Given the description of an element on the screen output the (x, y) to click on. 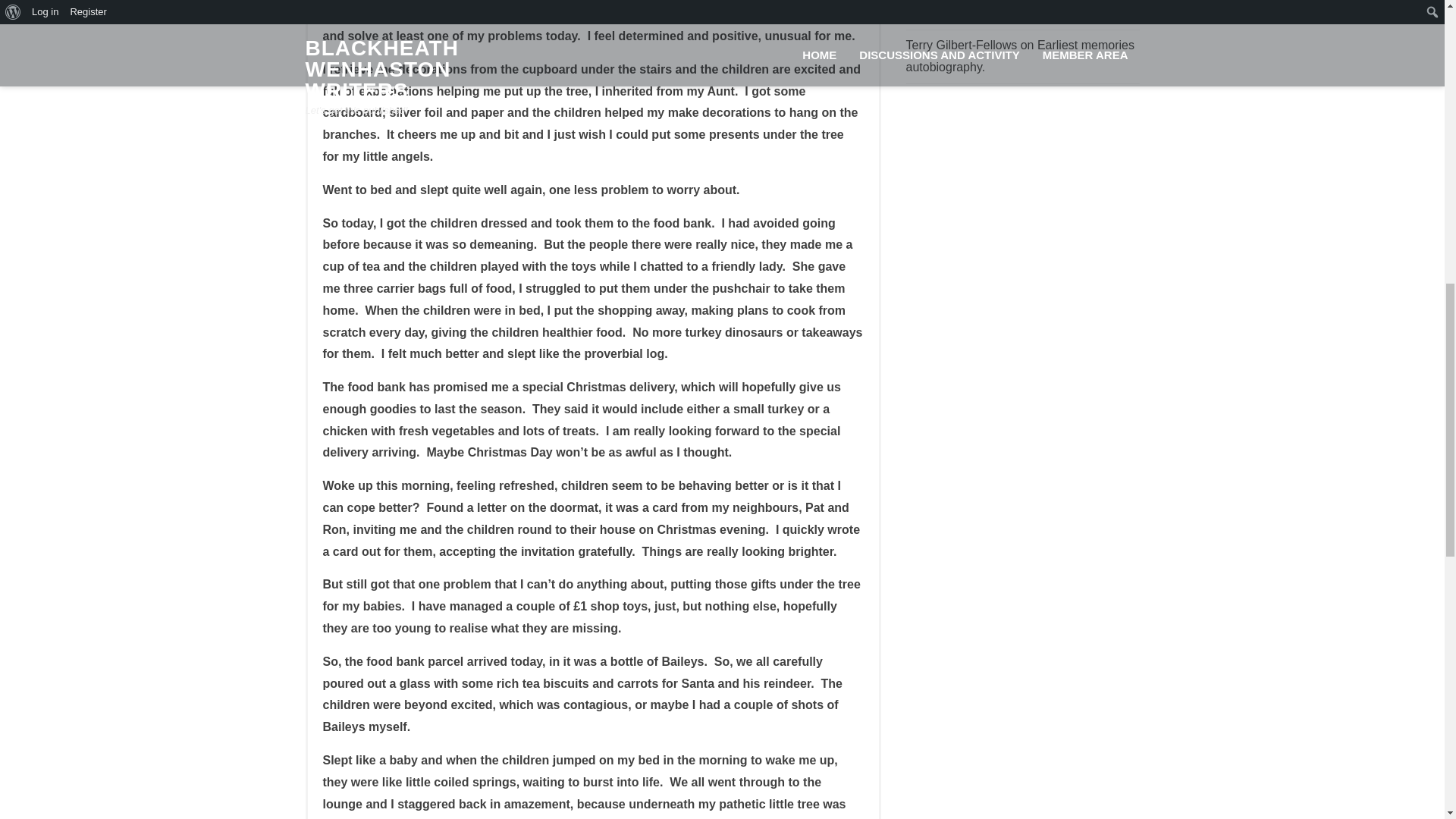
Earliest memories autobiography. (1019, 55)
Earliest memories autobiography. (1019, 10)
